Given the description of an element on the screen output the (x, y) to click on. 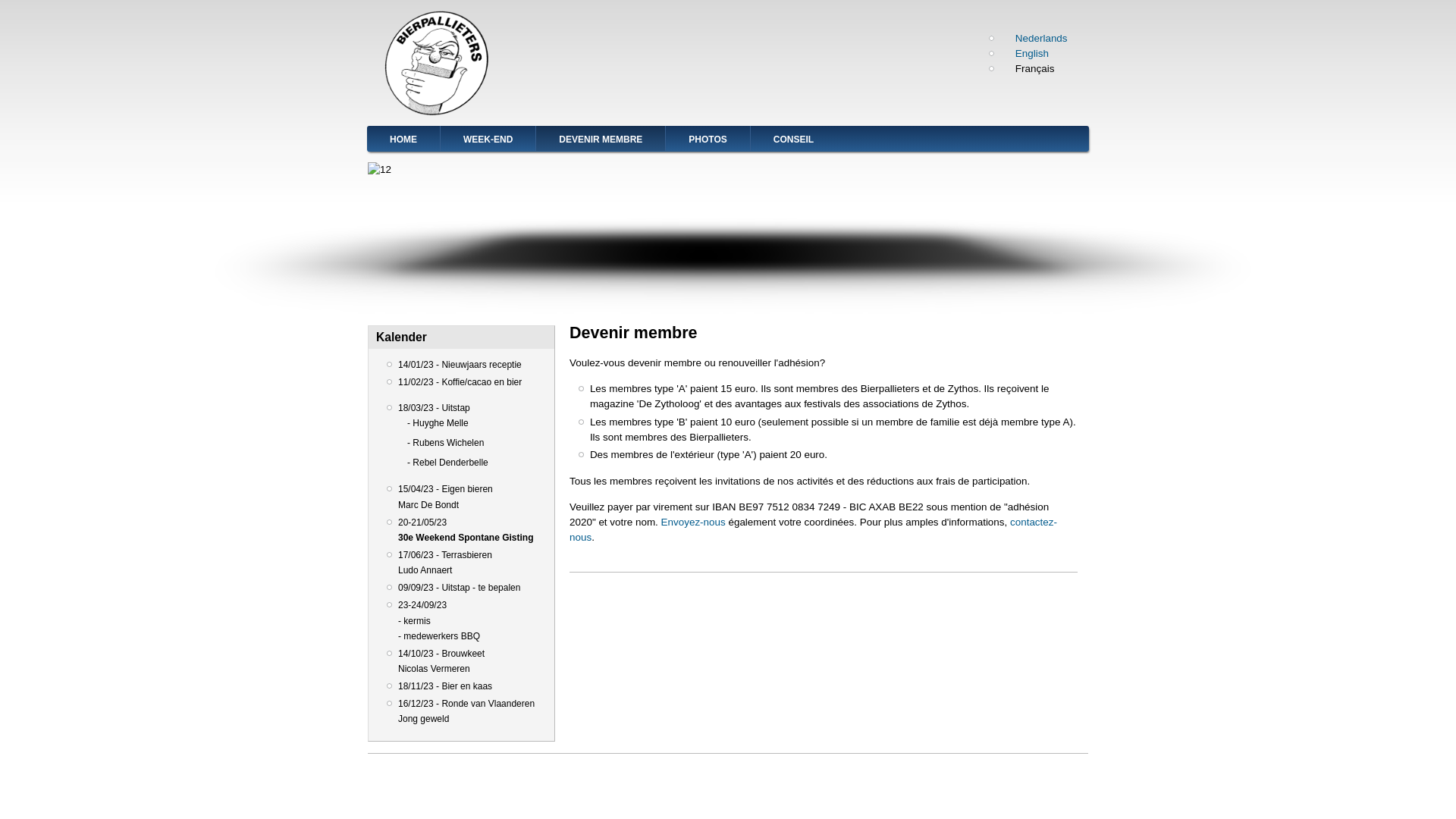
PHOTOS Element type: text (707, 137)
Nederlands Element type: text (1033, 37)
Envoyez-nous Element type: text (693, 521)
HOME Element type: text (403, 137)
English Element type: text (1024, 53)
contactez-nous Element type: text (813, 529)
CONSEIL Element type: text (793, 137)
WEEK-END Element type: text (487, 137)
Aller au contenu principal Element type: text (0, 0)
DEVENIR MEMBRE Element type: text (600, 137)
